Given the description of an element on the screen output the (x, y) to click on. 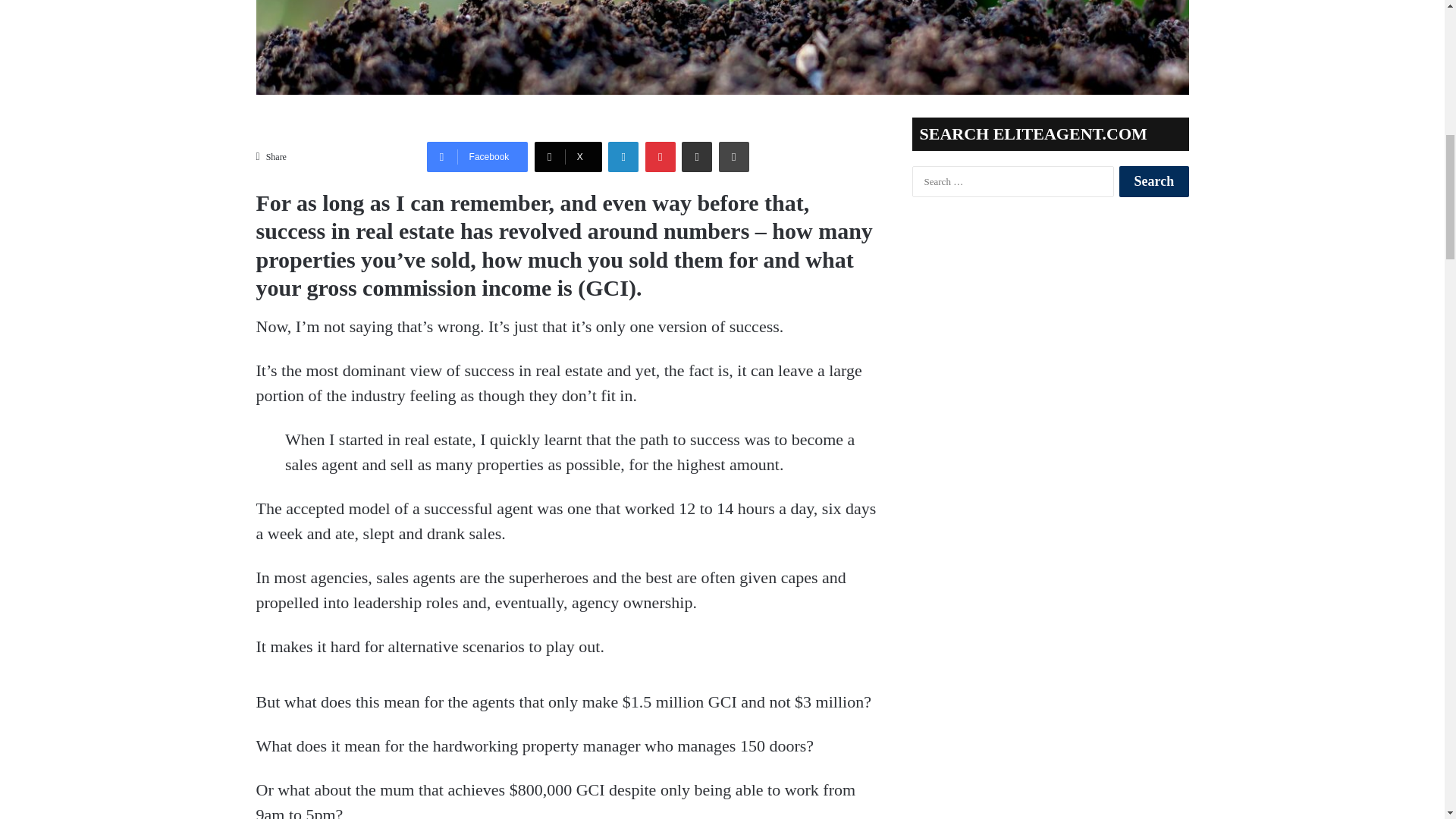
LinkedIn (623, 156)
Search (1153, 181)
Facebook (477, 156)
X (568, 156)
Share via Email (696, 156)
Search (1153, 181)
Pinterest (660, 156)
Print (734, 156)
